Given the description of an element on the screen output the (x, y) to click on. 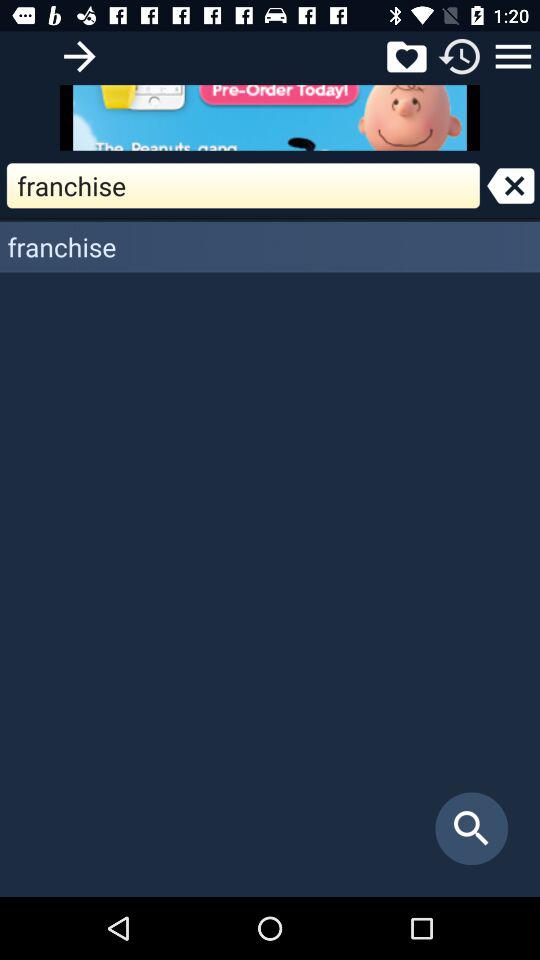
clear search bar (510, 185)
